Given the description of an element on the screen output the (x, y) to click on. 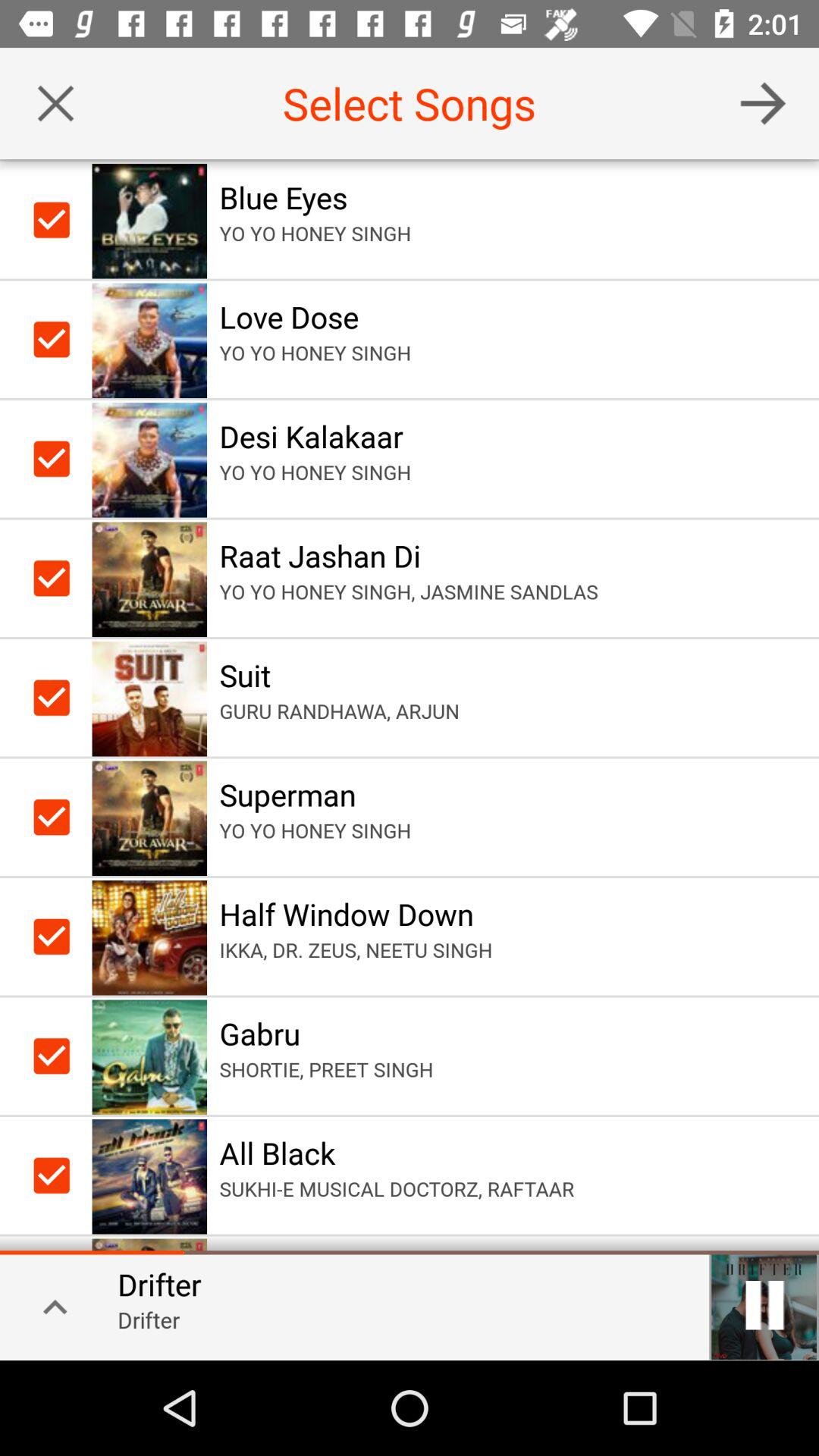
pause (764, 1304)
